Given the description of an element on the screen output the (x, y) to click on. 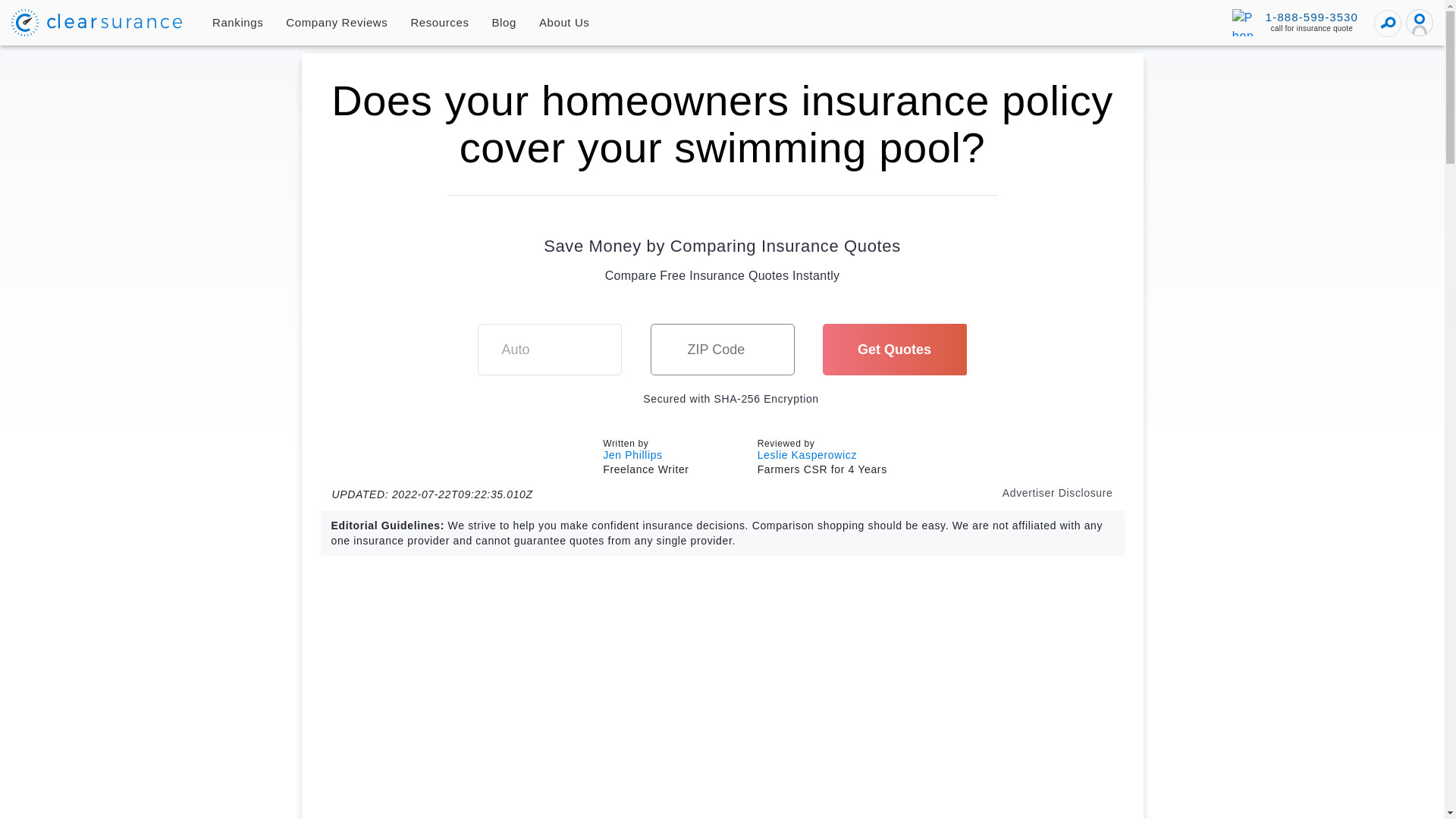
About Us (564, 22)
Resources (439, 22)
Home (96, 22)
Call for insurance quote (1294, 22)
Rankings (237, 22)
Search (1388, 23)
Get Quotes (894, 349)
Company Reviews (336, 22)
